Given the description of an element on the screen output the (x, y) to click on. 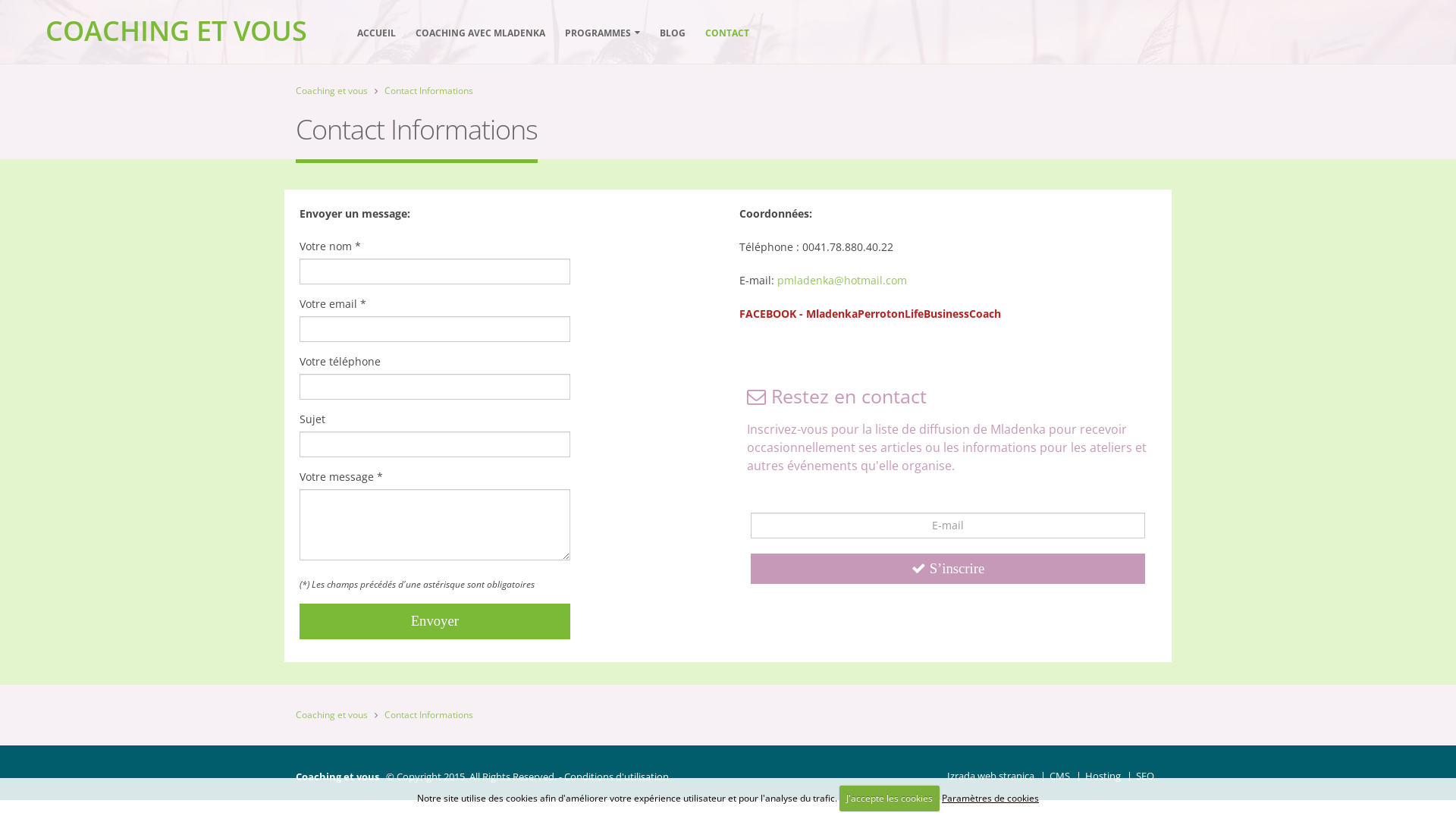
J'accepte les cookies Element type: text (889, 798)
COACHING ET VOUS Element type: text (176, 30)
pmladenka@hotmail.com Element type: text (841, 280)
CMS Element type: text (1059, 775)
SEO Element type: text (1144, 775)
FACEBOOK - MladenkaPerrotonLifeBusinessCoach Element type: text (870, 313)
Hosting Element type: text (1102, 775)
Coaching et vous Element type: text (331, 714)
Envoyer Element type: text (434, 621)
Coaching et vous Element type: text (331, 90)
Conditions d'utilisation Element type: text (616, 776)
Izrada web stranica Element type: text (990, 775)
Contact Informations Element type: text (428, 714)
Contact Informations Element type: text (428, 90)
